Given the description of an element on the screen output the (x, y) to click on. 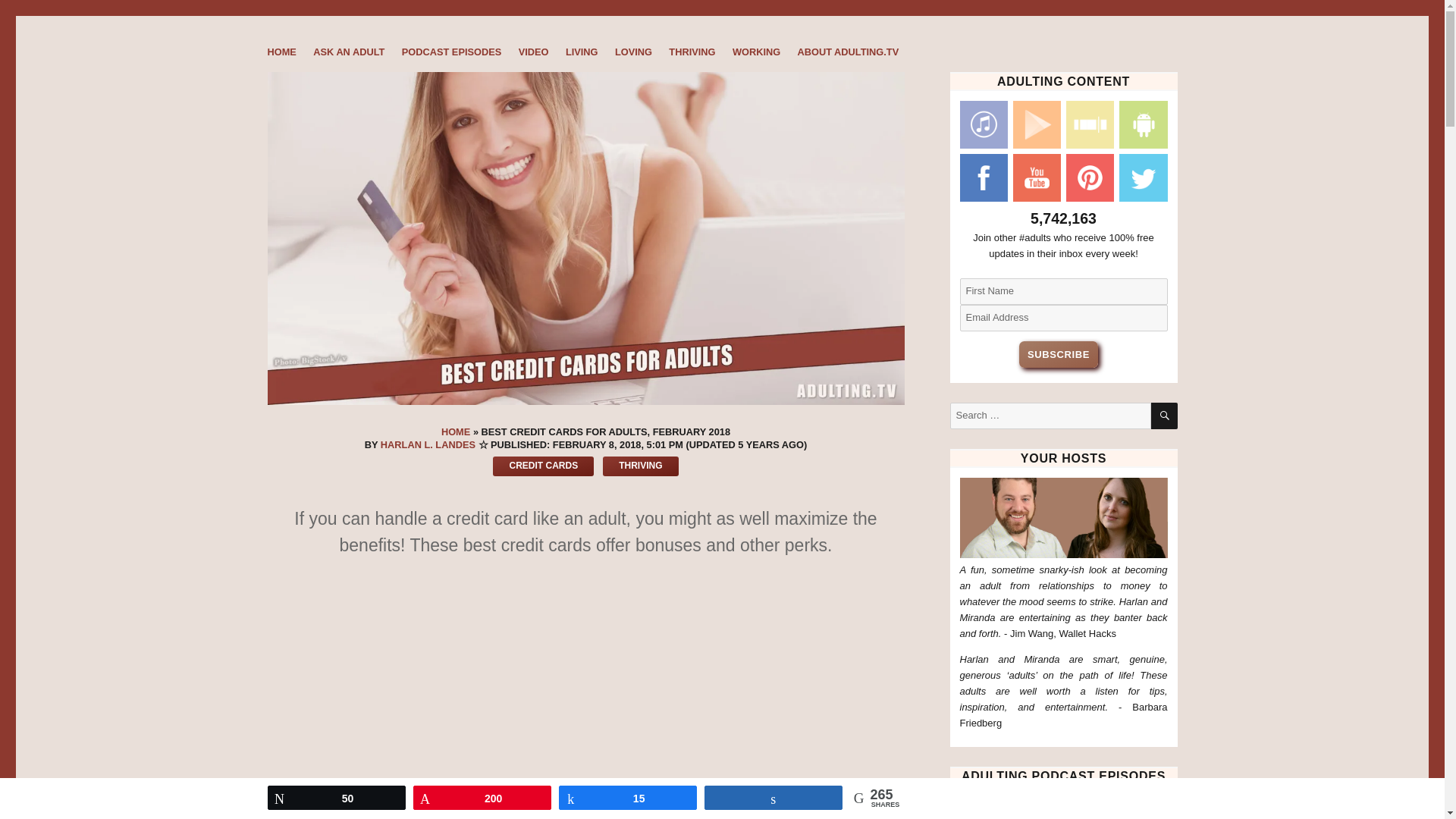
Twitter (1140, 180)
VIDEO (532, 53)
CREDIT CARDS (543, 465)
Subscribe (1058, 354)
Listen on Google Play (1034, 126)
LOVING (634, 53)
THRIVING (692, 53)
Listen on Android (1140, 126)
HOME (455, 431)
THRIVING (640, 465)
HARLAN L. LANDES (428, 444)
Pinterest (1087, 180)
ABOUT ADULTING.TV (848, 53)
YouTube Channel (1034, 180)
